Given the description of an element on the screen output the (x, y) to click on. 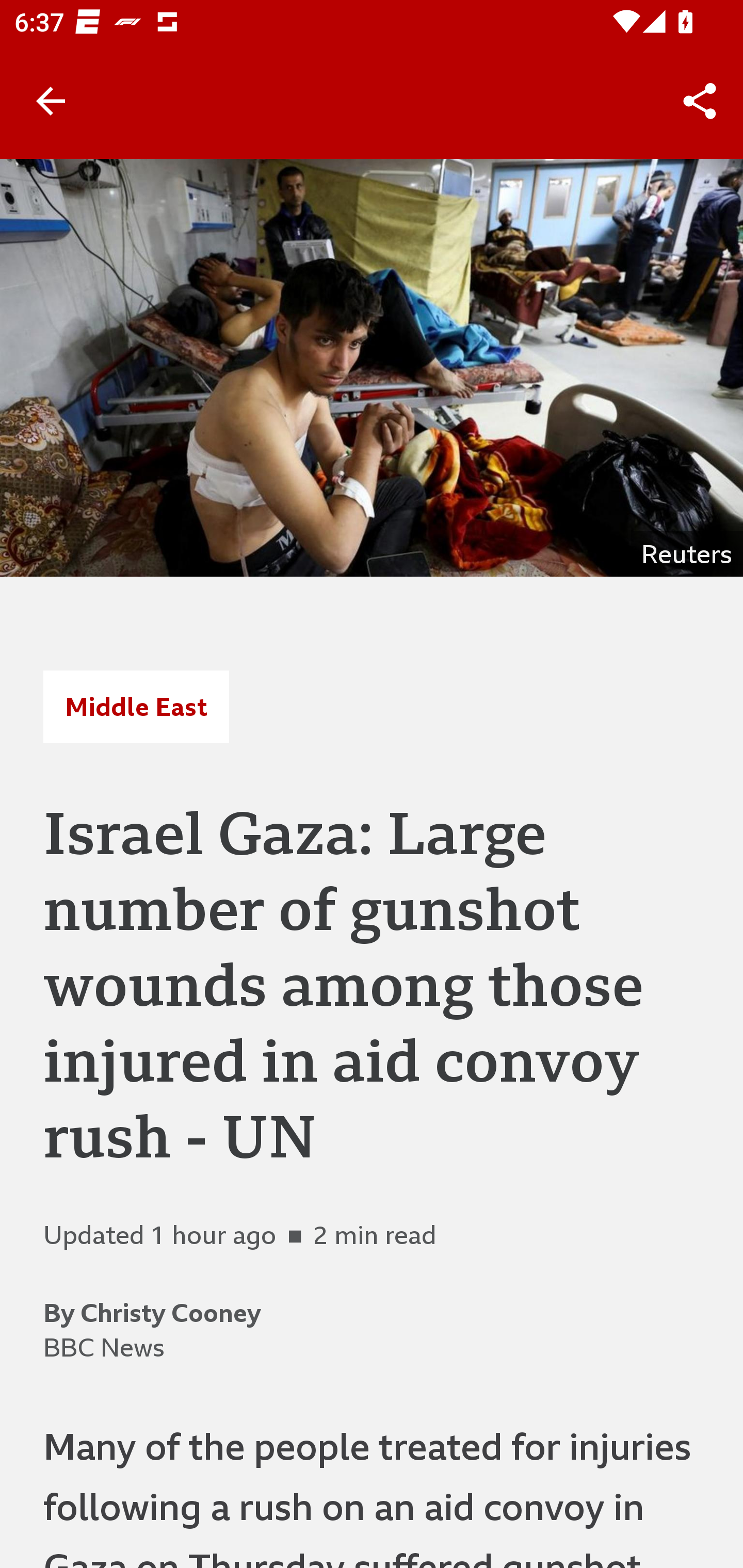
Back (50, 101)
Share (699, 101)
Middle East (135, 706)
